Given the description of an element on the screen output the (x, y) to click on. 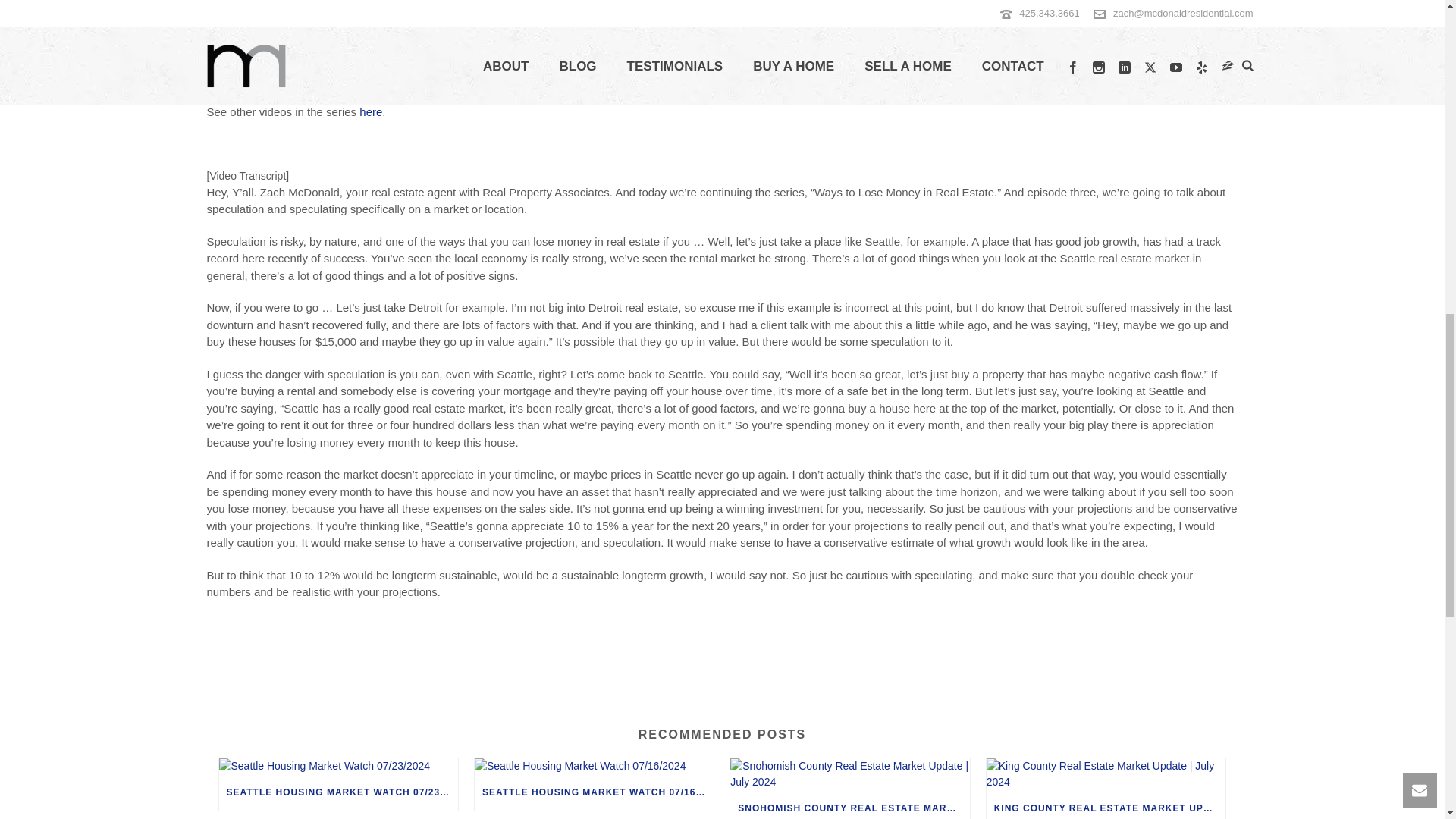
Posts by Zach McDonald (259, 39)
